Given the description of an element on the screen output the (x, y) to click on. 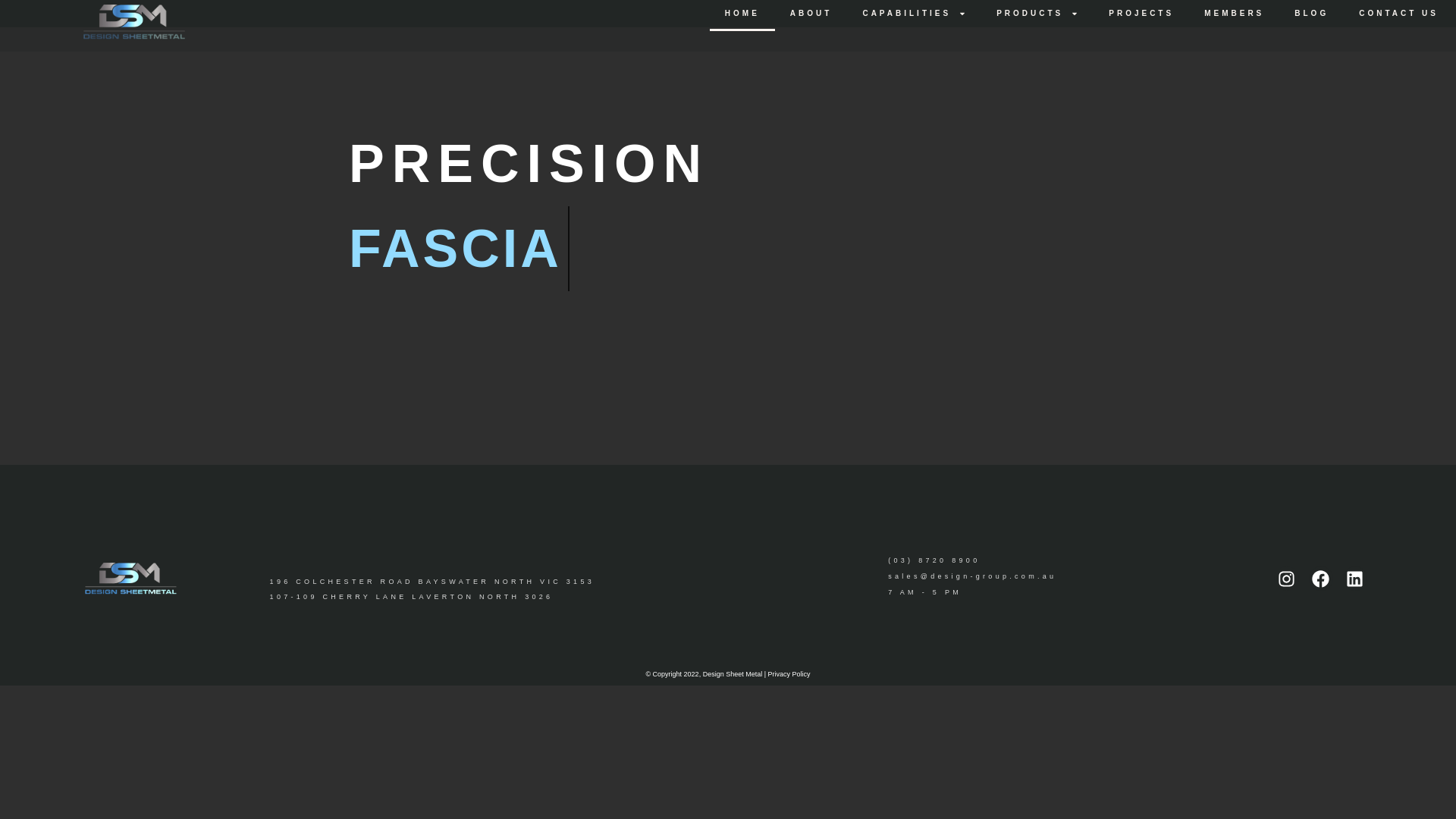
sales@design-group.com.au Element type: text (1077, 576)
(03) 8720 8900 Element type: text (1077, 560)
